Given the description of an element on the screen output the (x, y) to click on. 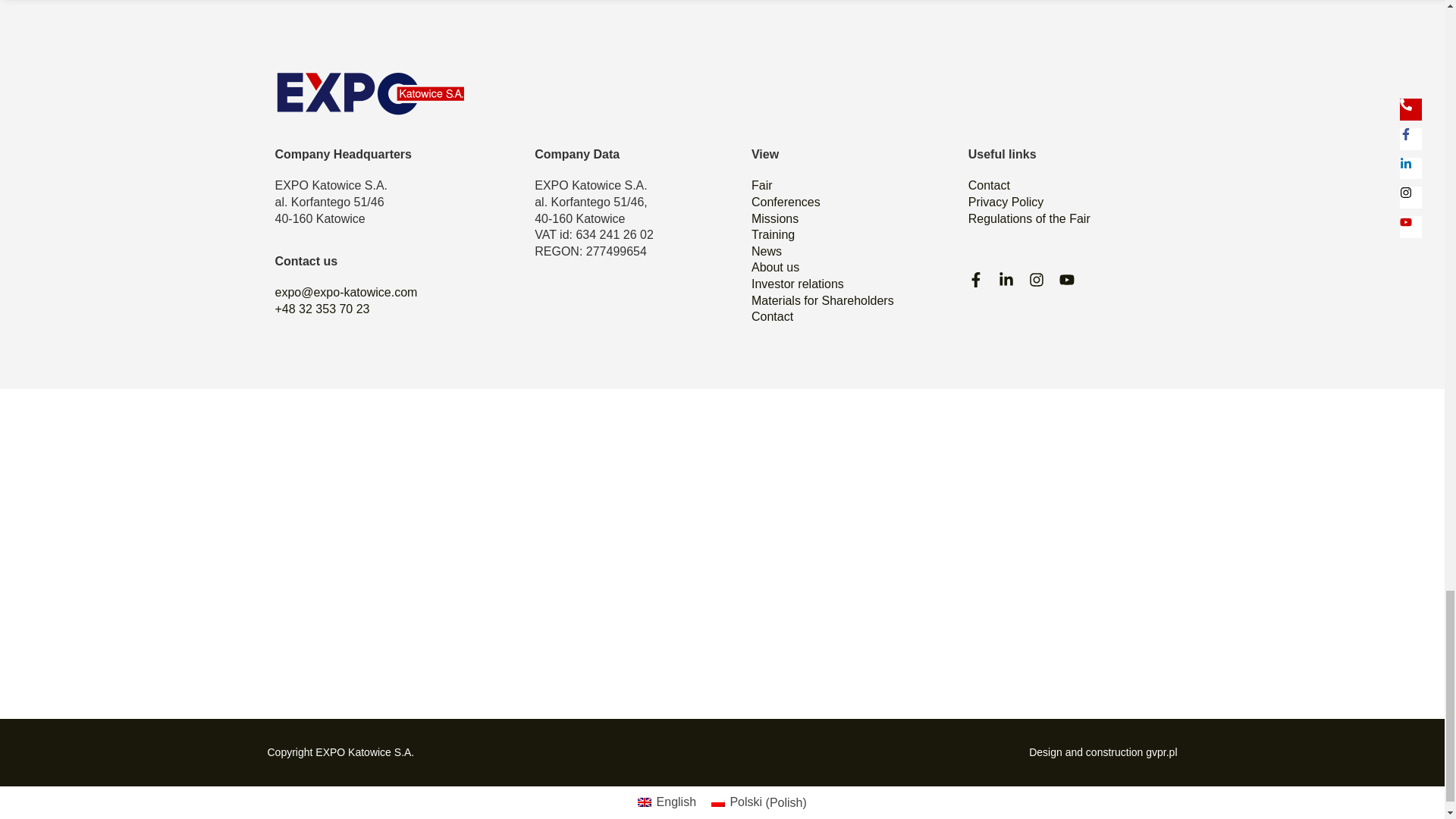
logo (369, 93)
